Given the description of an element on the screen output the (x, y) to click on. 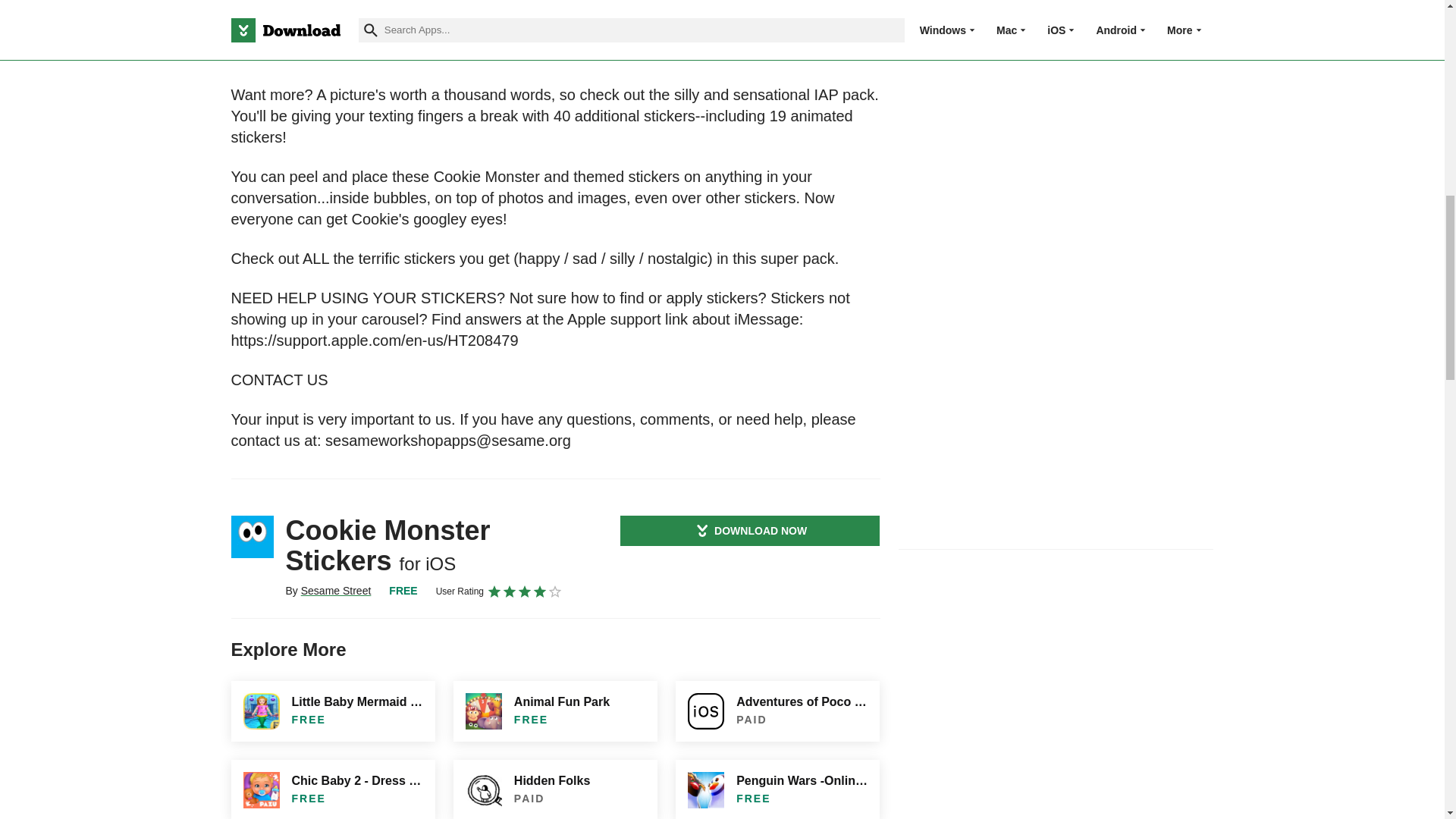
Cookie Monster Stickers for iOS (251, 536)
Animal Fun Park (555, 711)
Penguin Wars  -Online Battle- (777, 789)
Hidden Folks (555, 789)
